Given the description of an element on the screen output the (x, y) to click on. 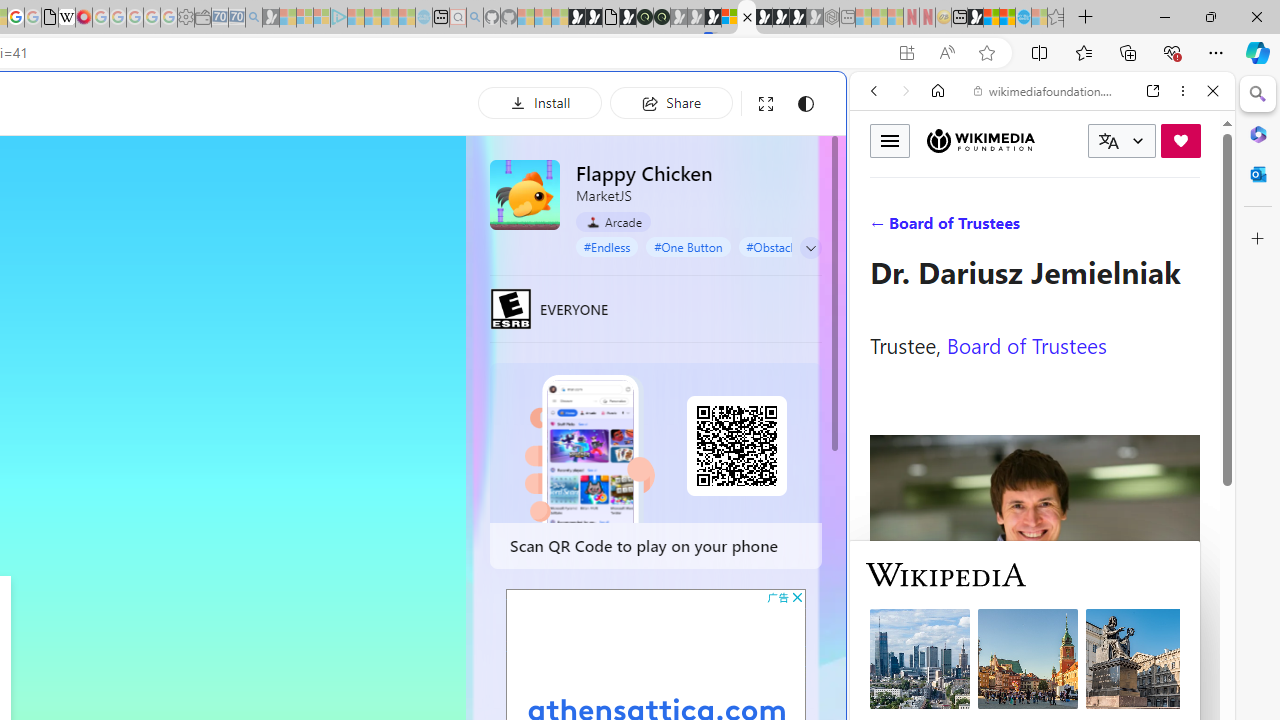
Copilot (Ctrl+Shift+.) (1258, 52)
Home | Sky Blue Bikes - Sky Blue Bikes (687, 426)
#One Button (688, 246)
Full screen (765, 103)
Global web icon (888, 669)
Wiktionary (1034, 669)
Restore (1210, 16)
MediaWiki (83, 17)
Arcade (613, 221)
IMAGES (939, 228)
Back (874, 91)
